Given the description of an element on the screen output the (x, y) to click on. 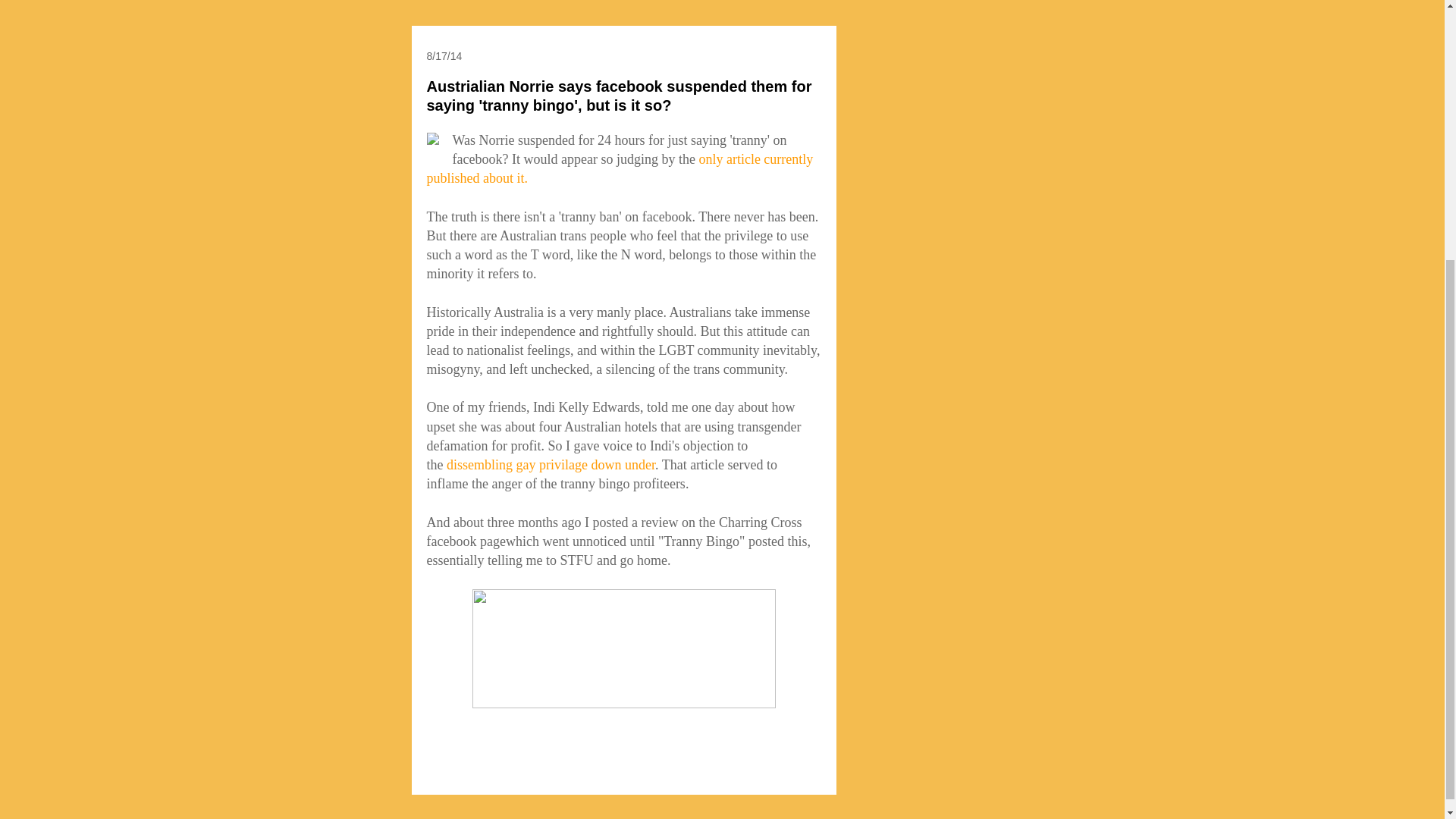
only article currently published about it. (619, 168)
dissembling gay privilage down under (550, 464)
